Given the description of an element on the screen output the (x, y) to click on. 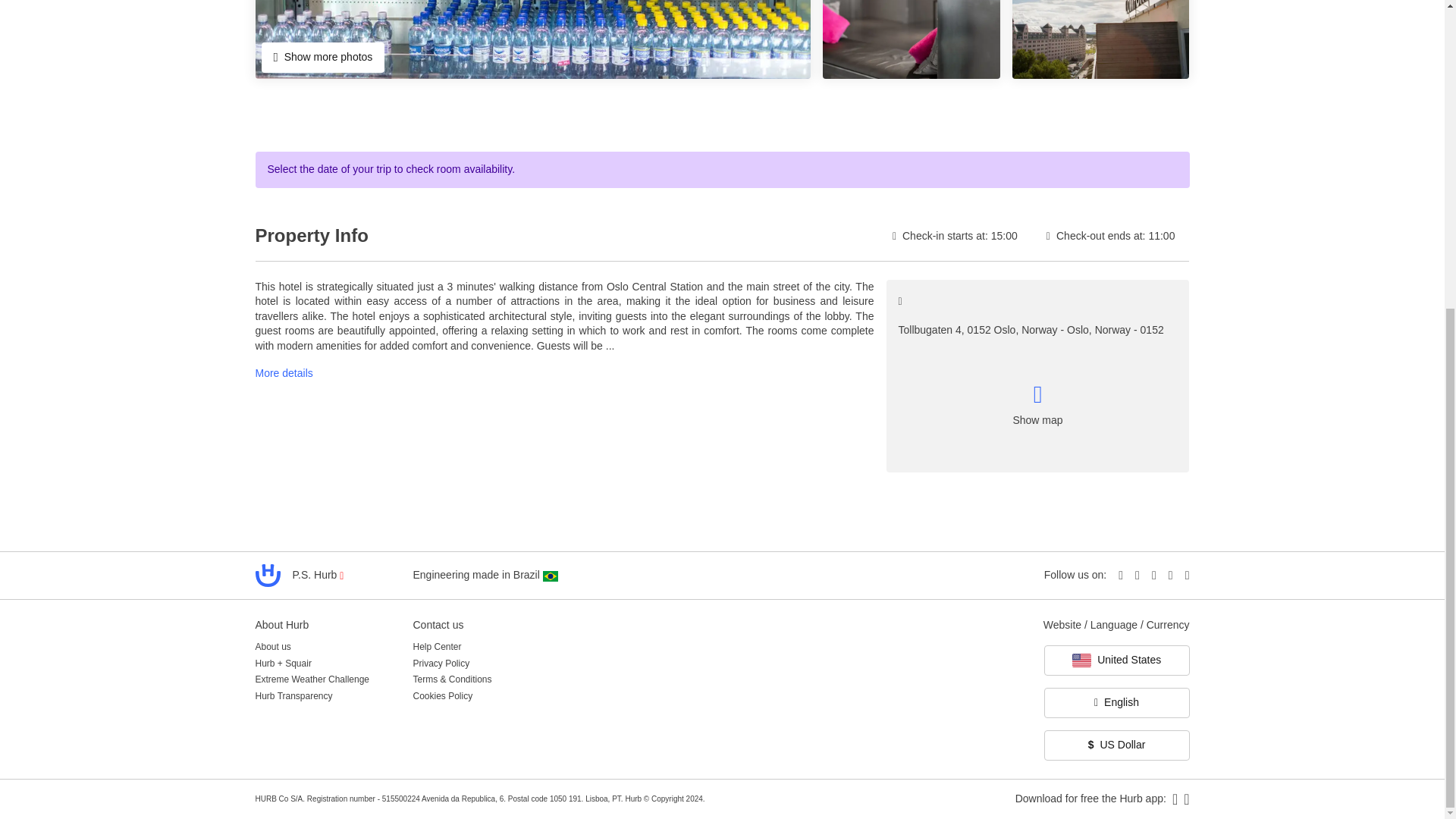
Privacy Policy (440, 663)
Show map (1037, 404)
Cookies Policy (441, 696)
Privacy Policy (440, 663)
Help Center (436, 647)
Extreme Weather Challenge (311, 679)
Cookies Policy (441, 696)
About us (271, 647)
Help Center (436, 647)
Show more photos (322, 57)
Hurb Transparency (292, 696)
Extreme Weather Challenge (311, 679)
United States (1116, 660)
English (1116, 702)
About us (271, 647)
